Given the description of an element on the screen output the (x, y) to click on. 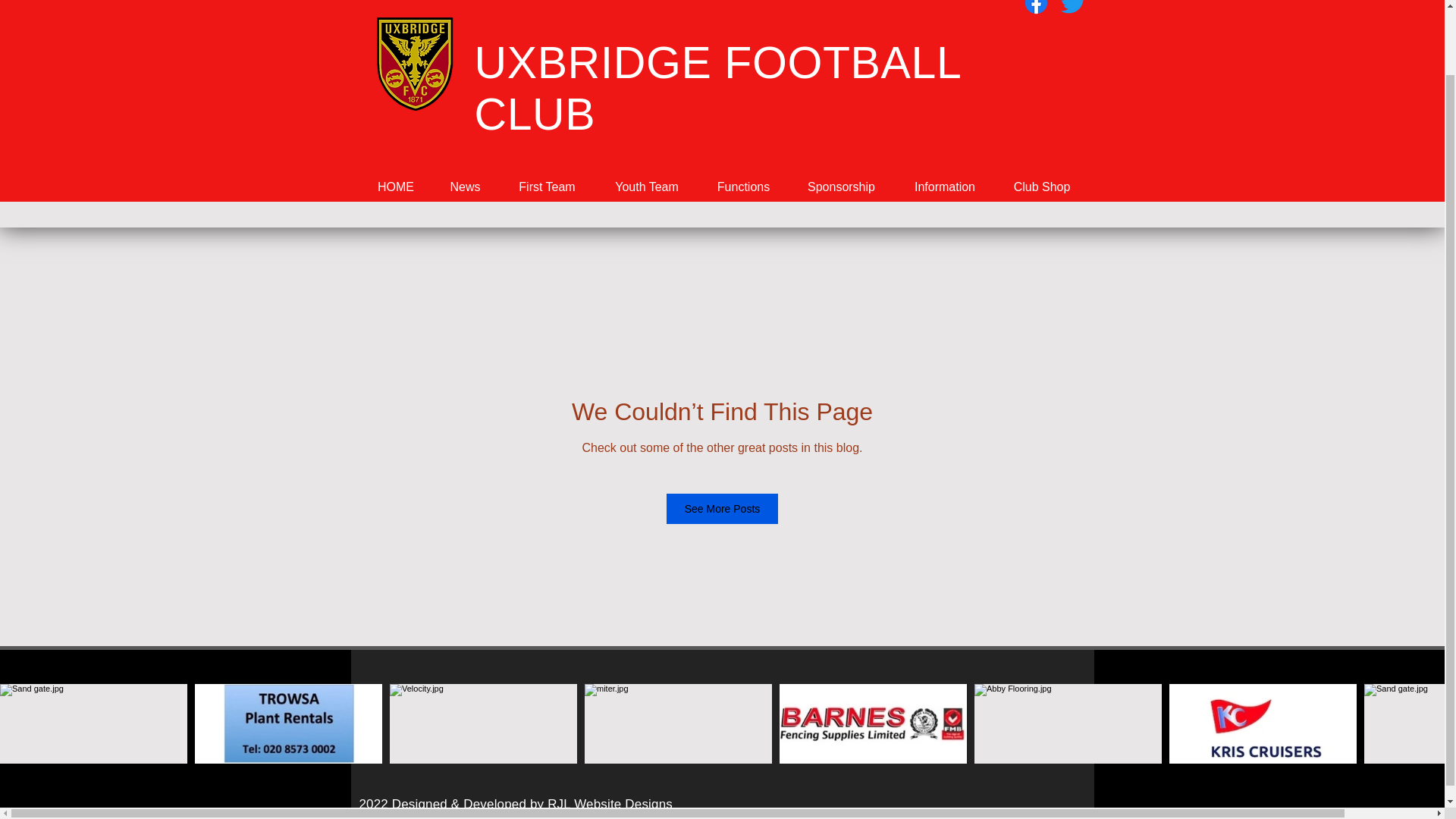
Sponsorship (841, 186)
RJL Website Designs (609, 803)
Club Shop (1040, 186)
News (463, 186)
Functions (742, 186)
HOME (395, 186)
See More Posts (722, 508)
